Given the description of an element on the screen output the (x, y) to click on. 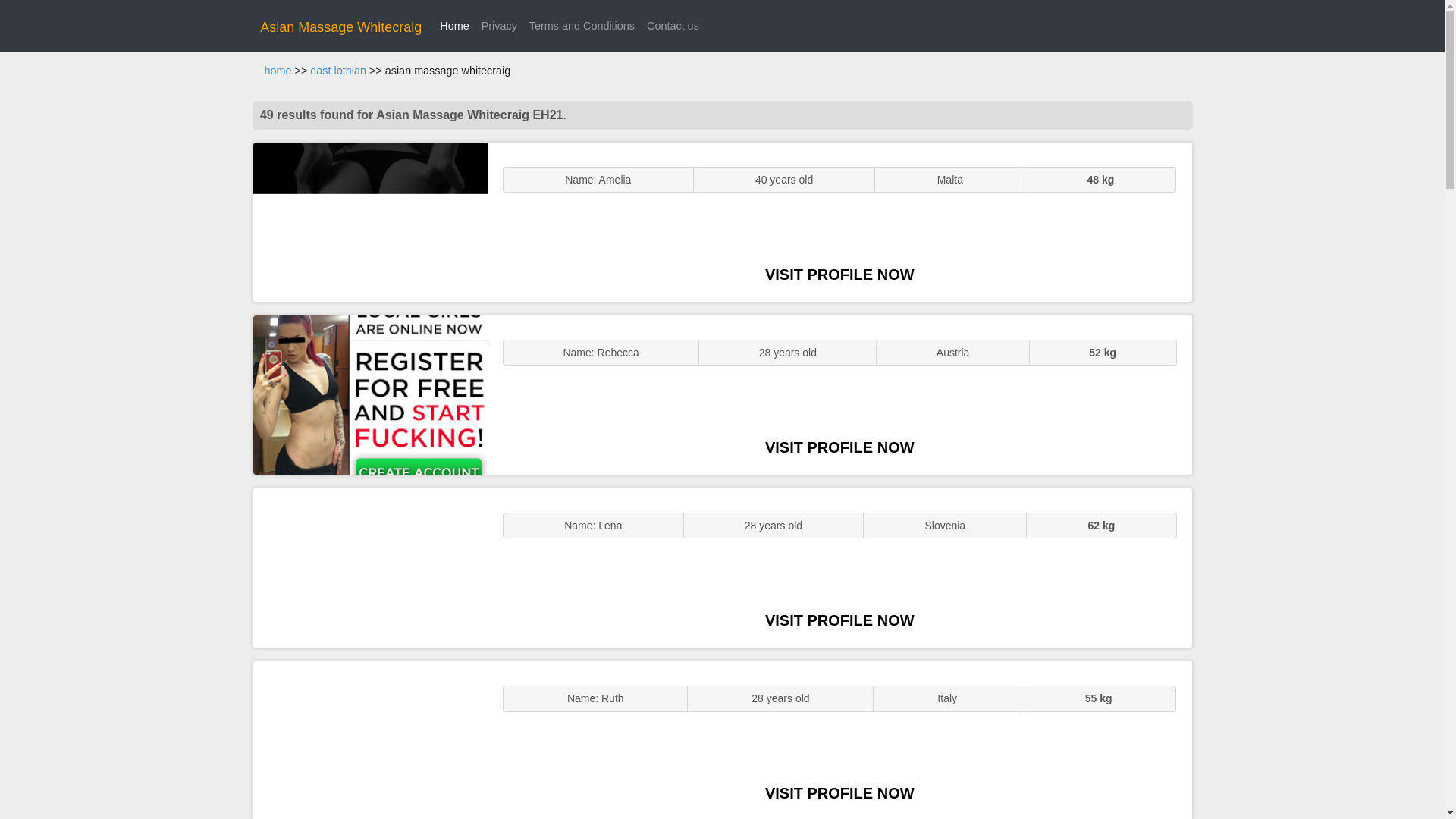
Privacy (499, 25)
east lothian (338, 70)
Sexy (370, 567)
VISIT PROFILE NOW (839, 792)
 ENGLISH STUNNER (370, 222)
home (277, 70)
GFE (370, 395)
Terms and Conditions (581, 25)
Contact us (672, 25)
VISIT PROFILE NOW (839, 619)
